Given the description of an element on the screen output the (x, y) to click on. 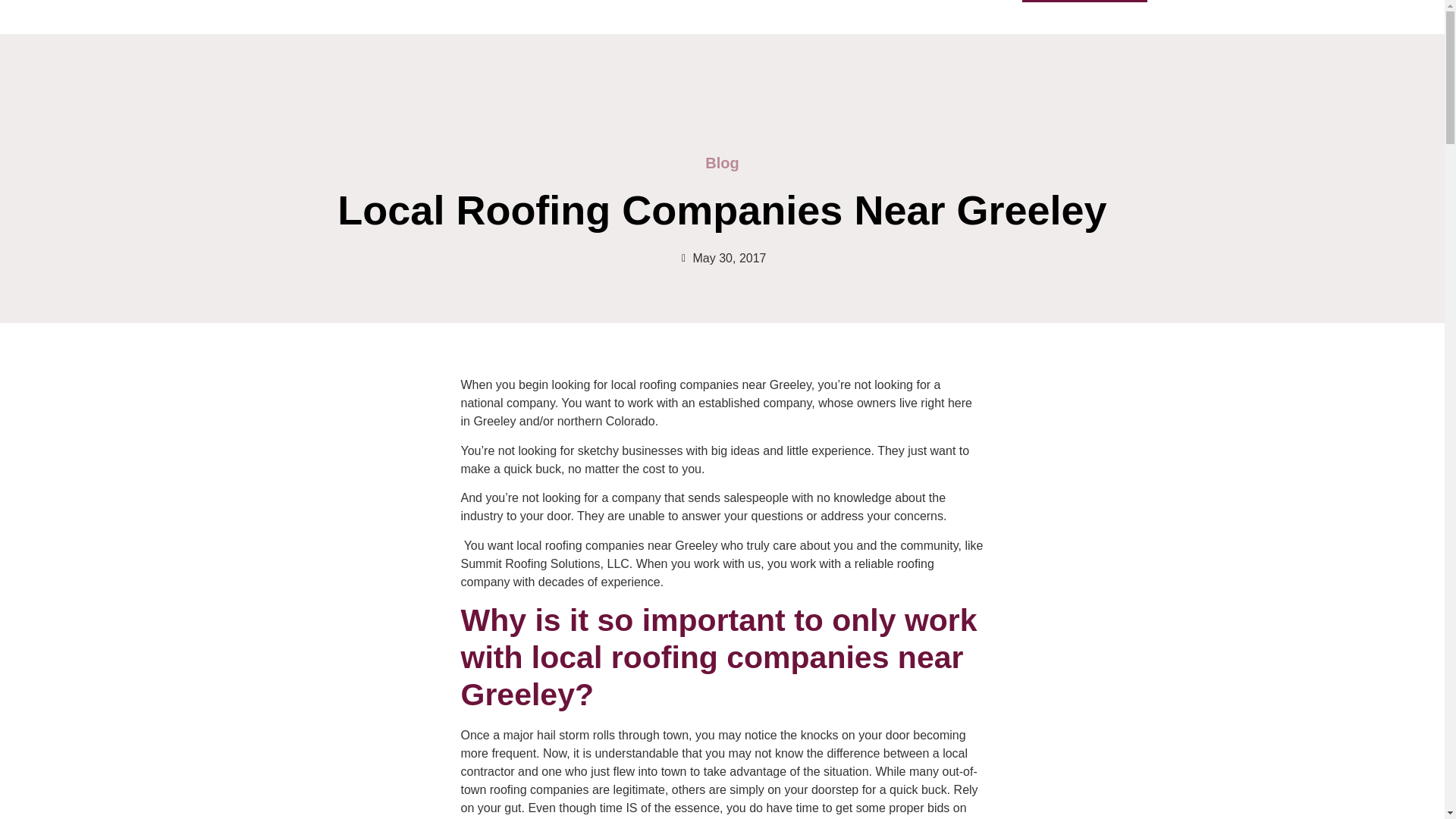
About Us (905, 2)
May 30, 2017 (722, 258)
Blog (845, 2)
Home (608, 2)
Insurance Claims (764, 2)
Contact (974, 2)
Services (671, 2)
